Given the description of an element on the screen output the (x, y) to click on. 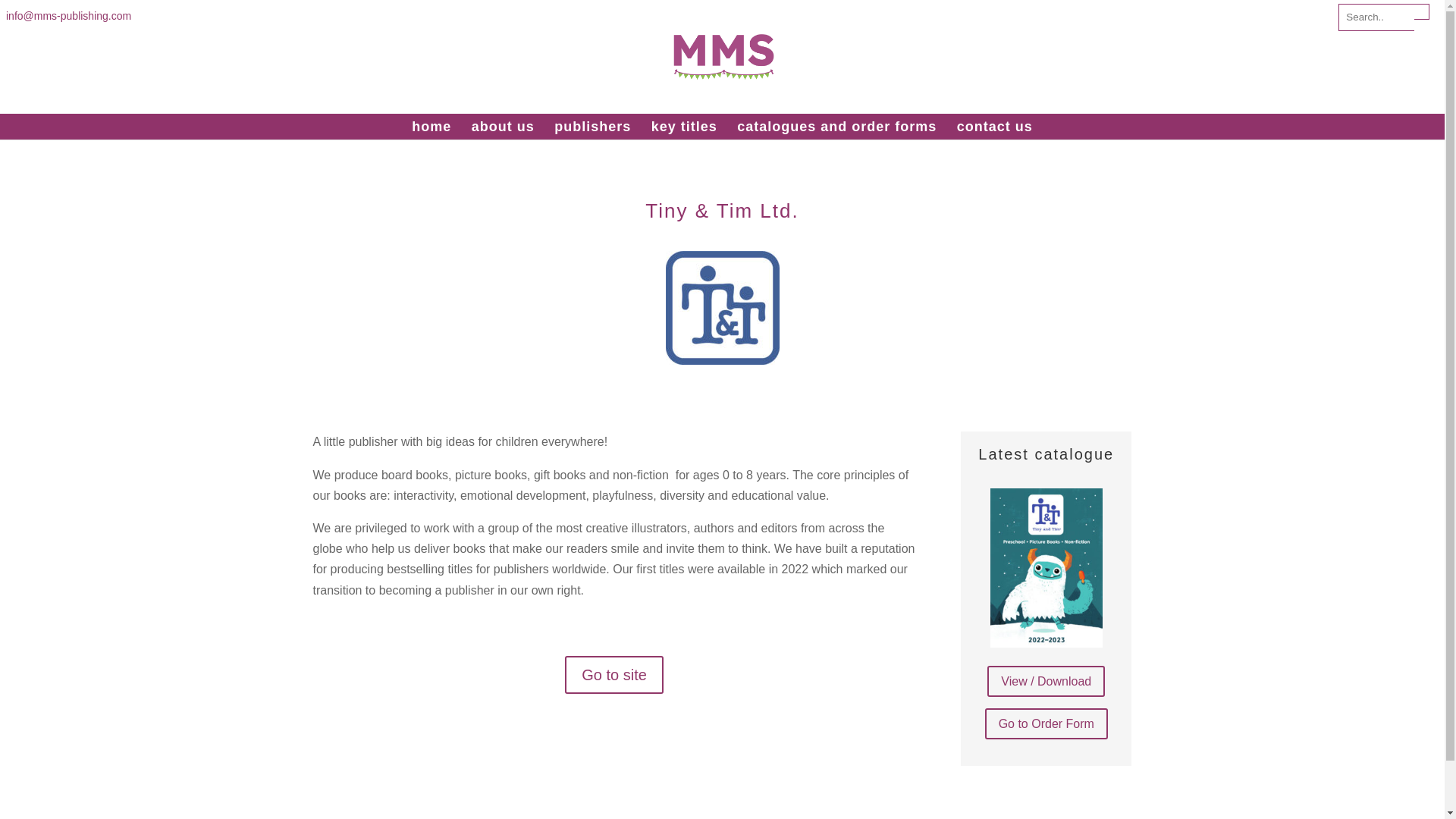
about us (502, 126)
Go to Order Form (1046, 723)
key titles (683, 126)
publishers (592, 126)
Go to site (613, 674)
catalogues and order forms (836, 126)
contact us (994, 126)
home (431, 126)
